Given the description of an element on the screen output the (x, y) to click on. 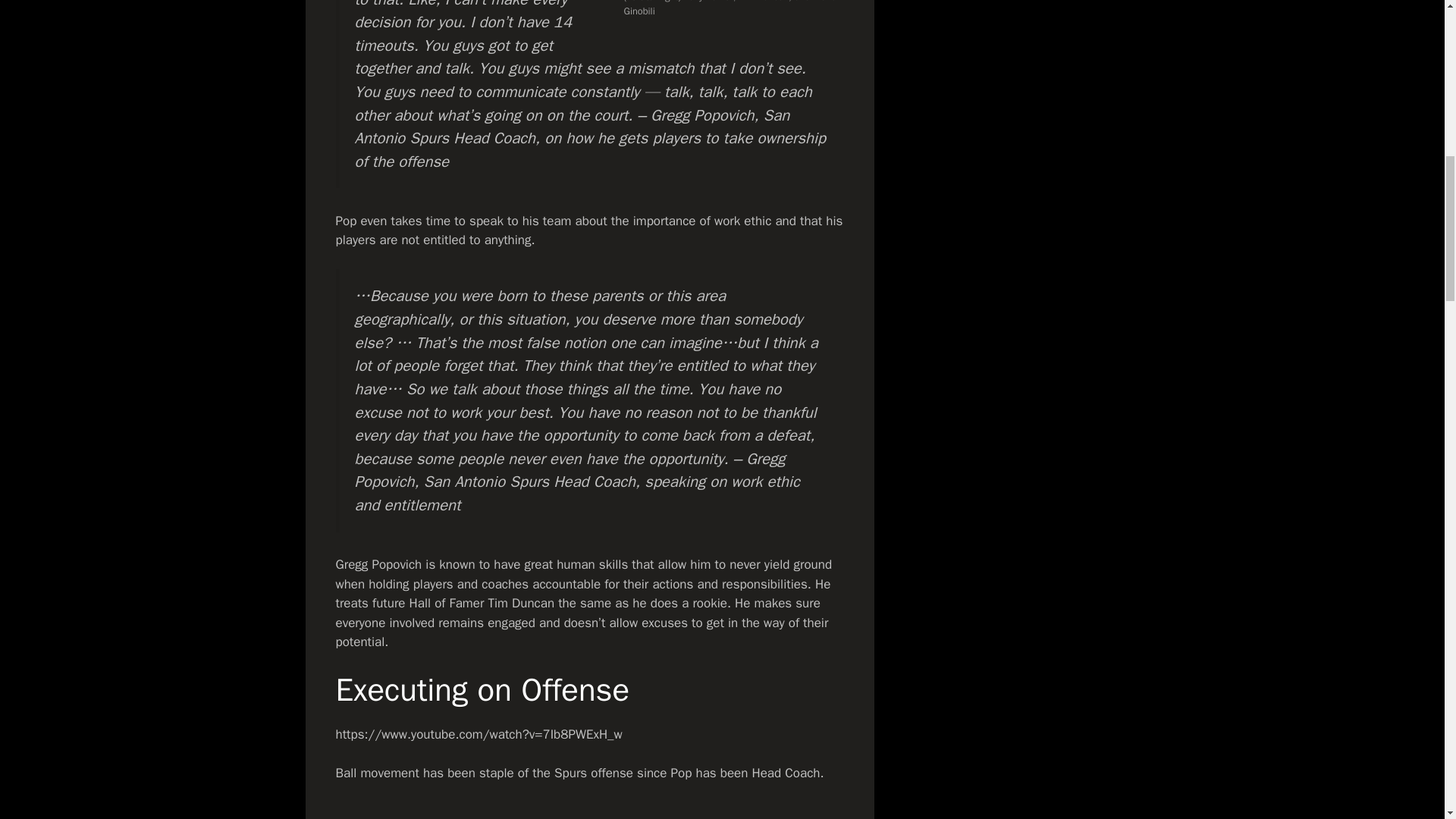
The Spurs Execute a Beautiful Basketball Play to Perfection (588, 810)
